Given the description of an element on the screen output the (x, y) to click on. 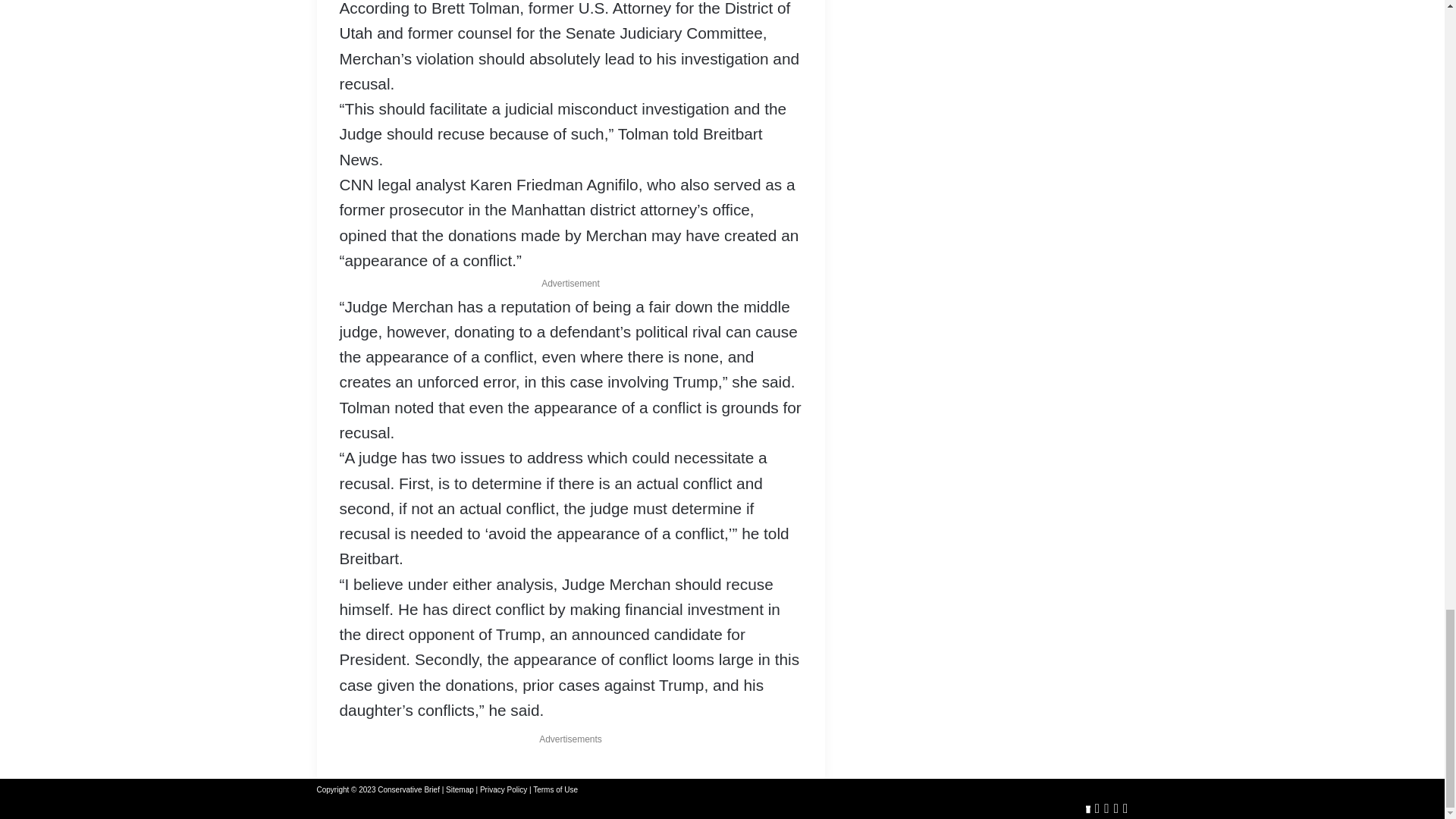
Terms of Use (555, 789)
Sitemap (459, 789)
Privacy Policy (503, 789)
Conservative Brief (408, 789)
